Given the description of an element on the screen output the (x, y) to click on. 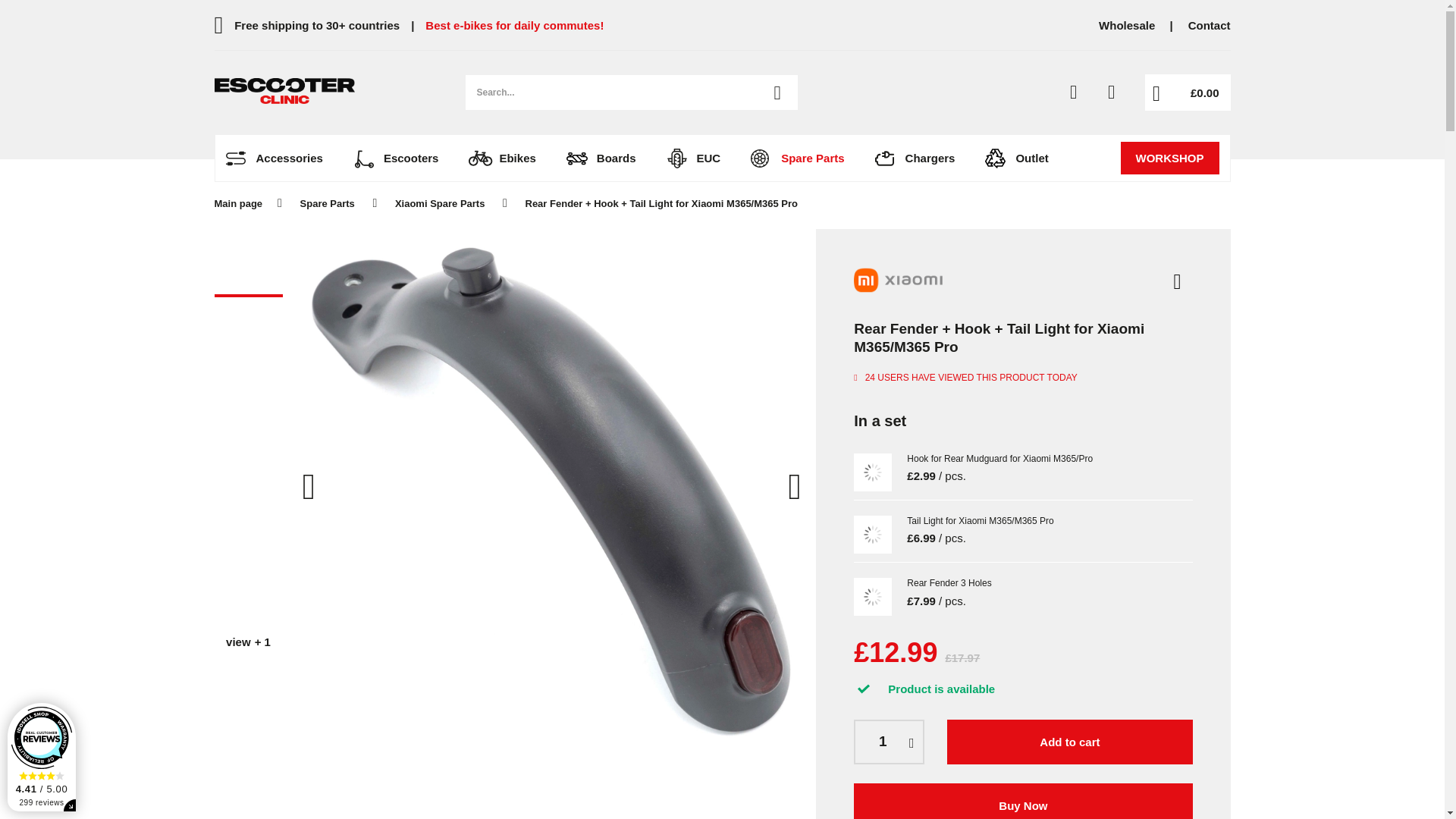
Spare Parts (759, 157)
Wholesale (1126, 24)
Best e-bikes for daily commutes! (514, 25)
Boards (577, 157)
Wholesale (1126, 24)
Contact (1209, 24)
Best e-bikes for daily commutes! (514, 25)
Boards (608, 157)
Escooters (403, 157)
Accessories (235, 158)
